Given the description of an element on the screen output the (x, y) to click on. 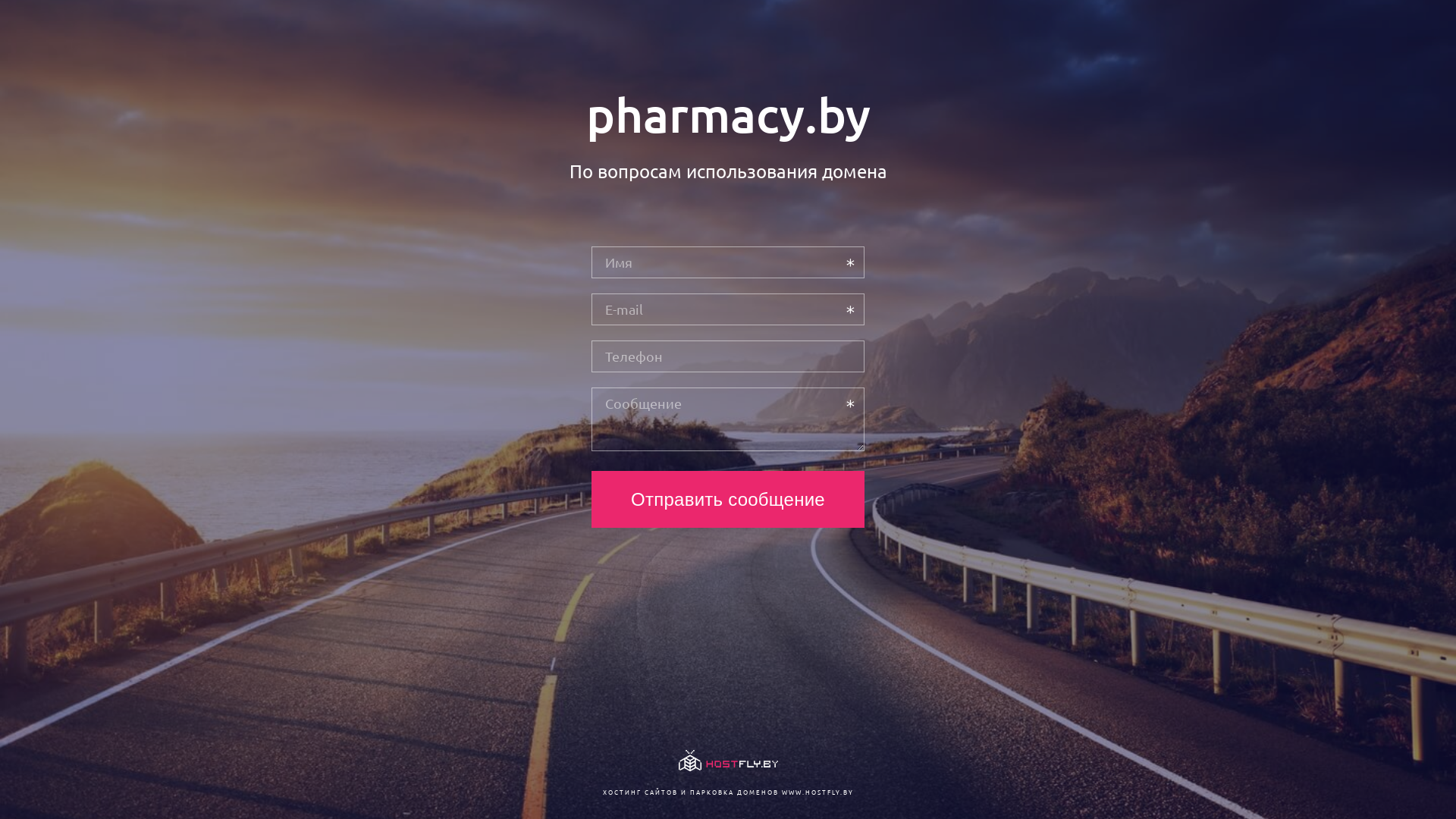
WWW.HOSTFLY.BY Element type: text (817, 791)
